Given the description of an element on the screen output the (x, y) to click on. 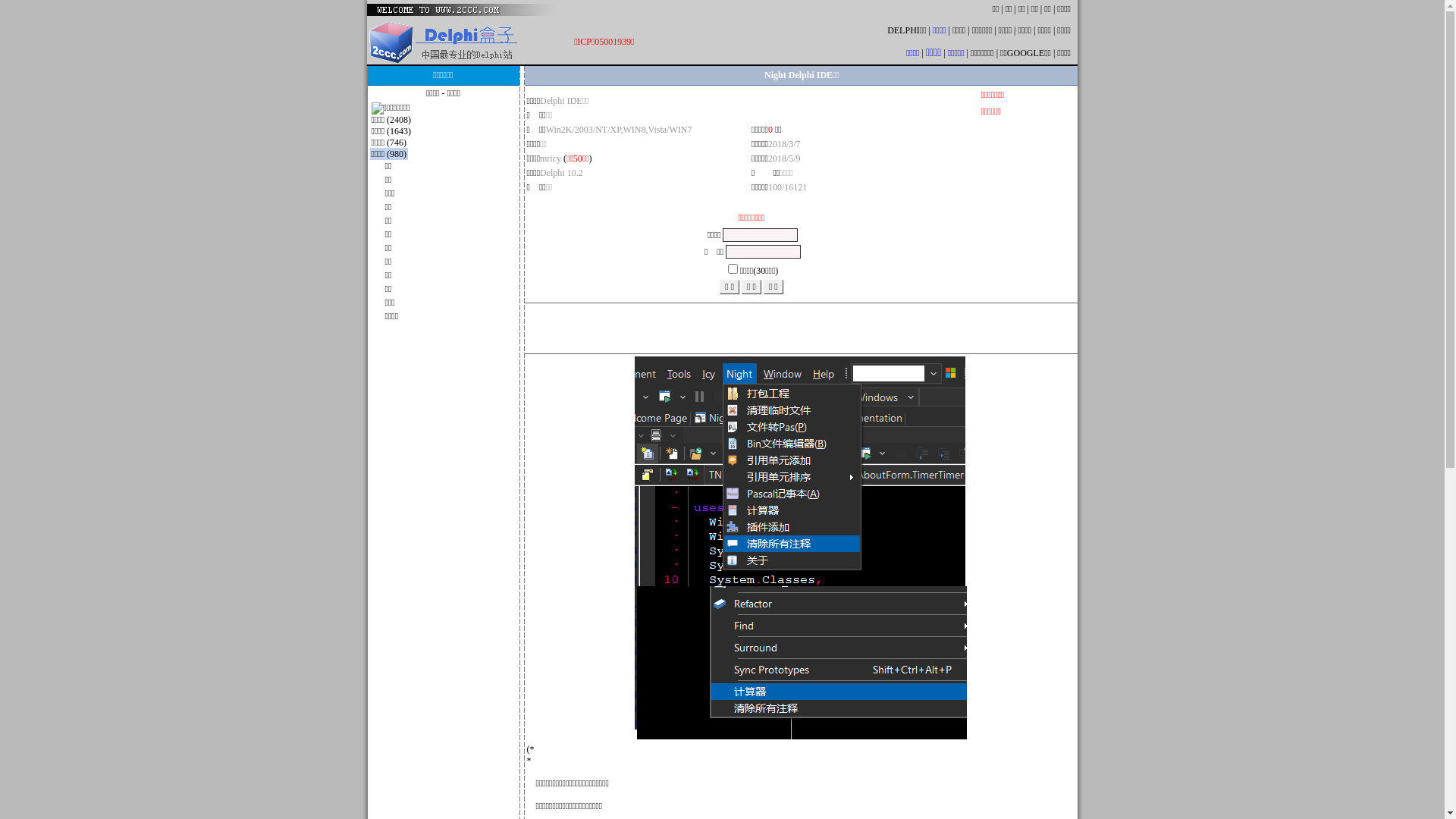
Advertisement Element type: hover (800, 328)
Advertisement Element type: hover (1023, 211)
mricy Element type: text (550, 158)
